Given the description of an element on the screen output the (x, y) to click on. 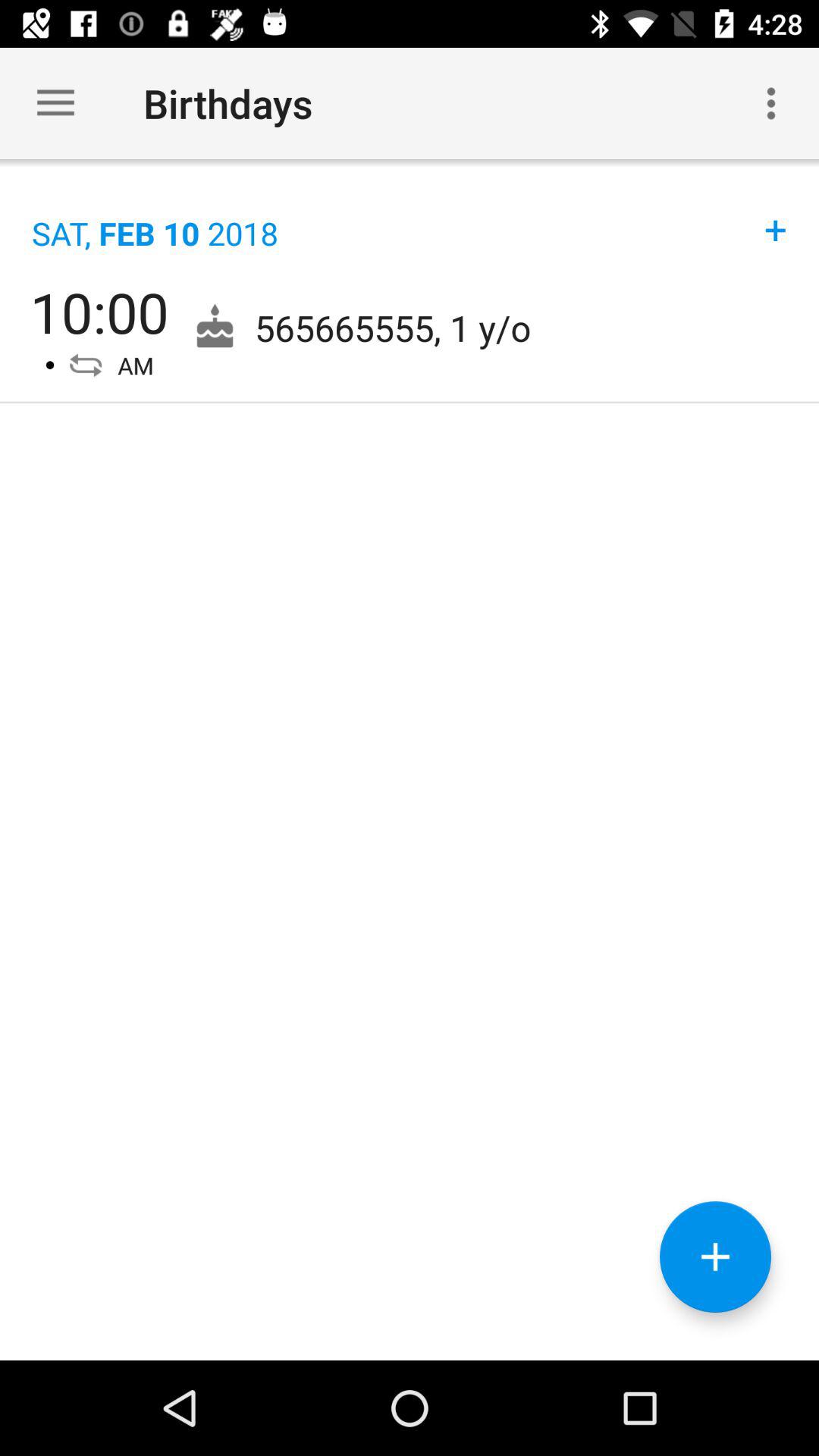
click icon to the right of sat feb 10 (775, 214)
